Given the description of an element on the screen output the (x, y) to click on. 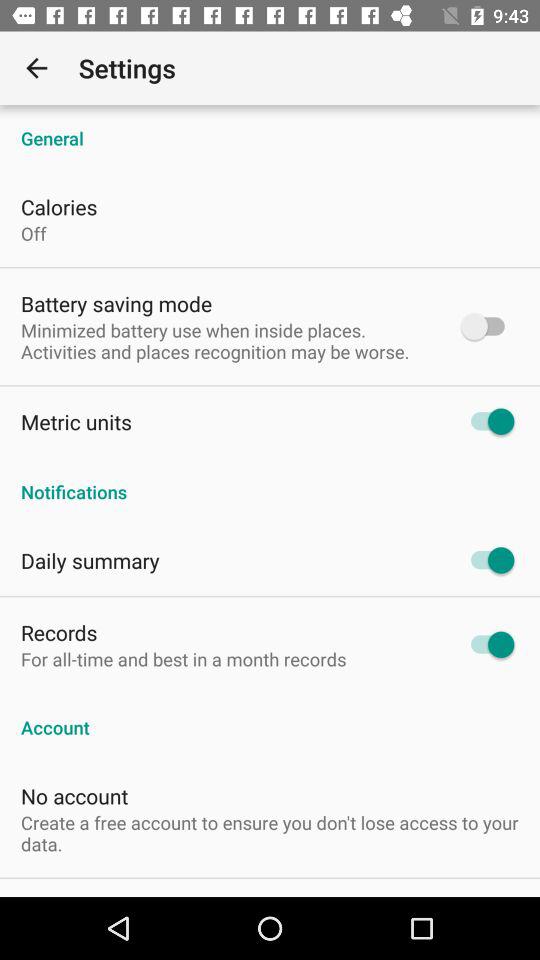
click app next to the settings app (36, 68)
